Given the description of an element on the screen output the (x, y) to click on. 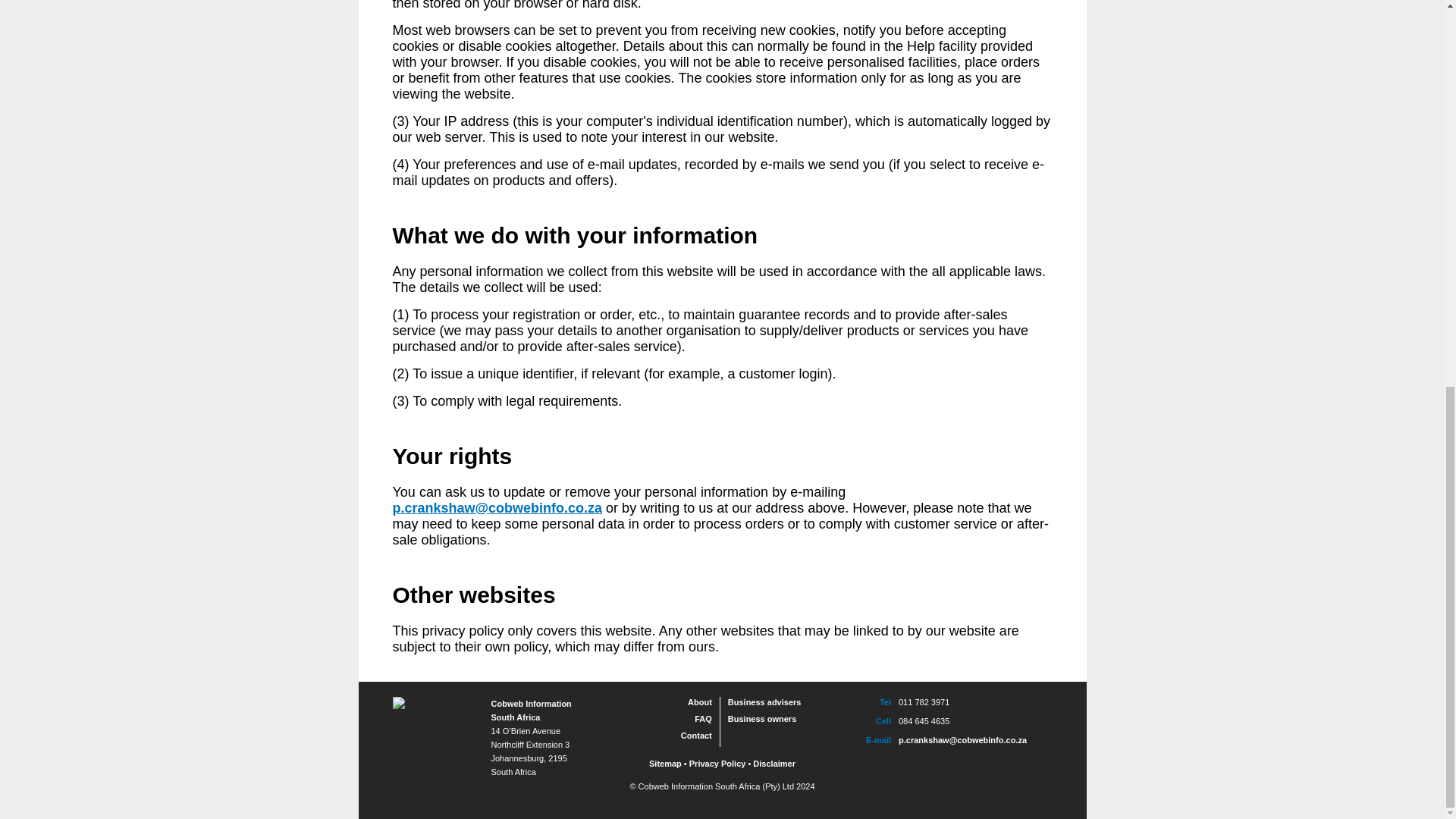
Business advisers (765, 701)
Sitemap (665, 763)
Business owners (762, 718)
About (699, 701)
Privacy Policy (716, 763)
Contact (696, 735)
Disclaimer (773, 763)
FAQ (702, 718)
